Given the description of an element on the screen output the (x, y) to click on. 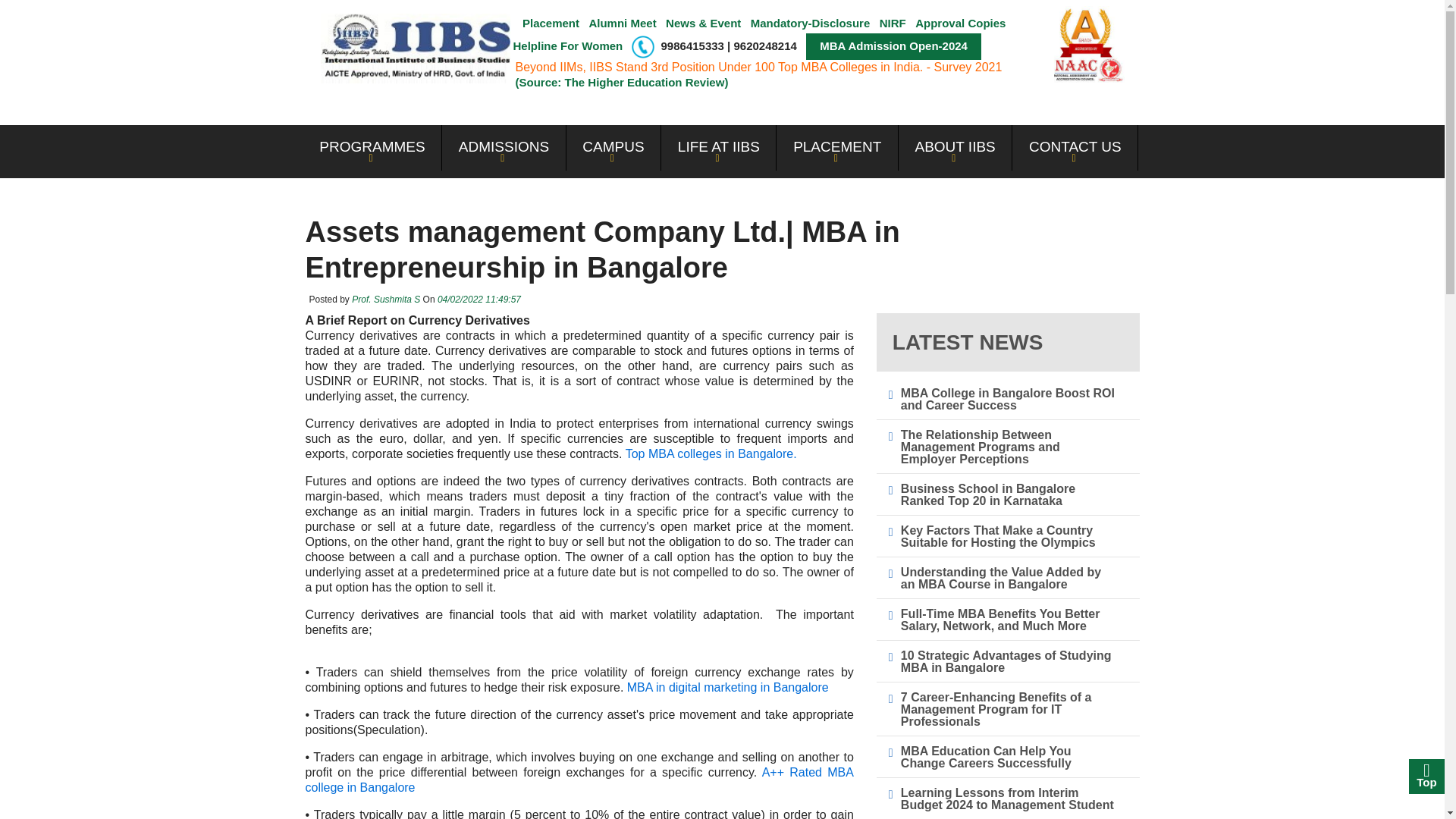
Alumni Meet (622, 22)
ADMISSIONS (503, 147)
Helpline For Women (567, 45)
Mandatory-Disclosure (810, 22)
NIRF (892, 22)
Placement (550, 22)
Approval Copies (960, 22)
Placement in IIBS (550, 22)
PROGRAMMES (371, 147)
MBA Admission Open-2024 (892, 46)
